Given the description of an element on the screen output the (x, y) to click on. 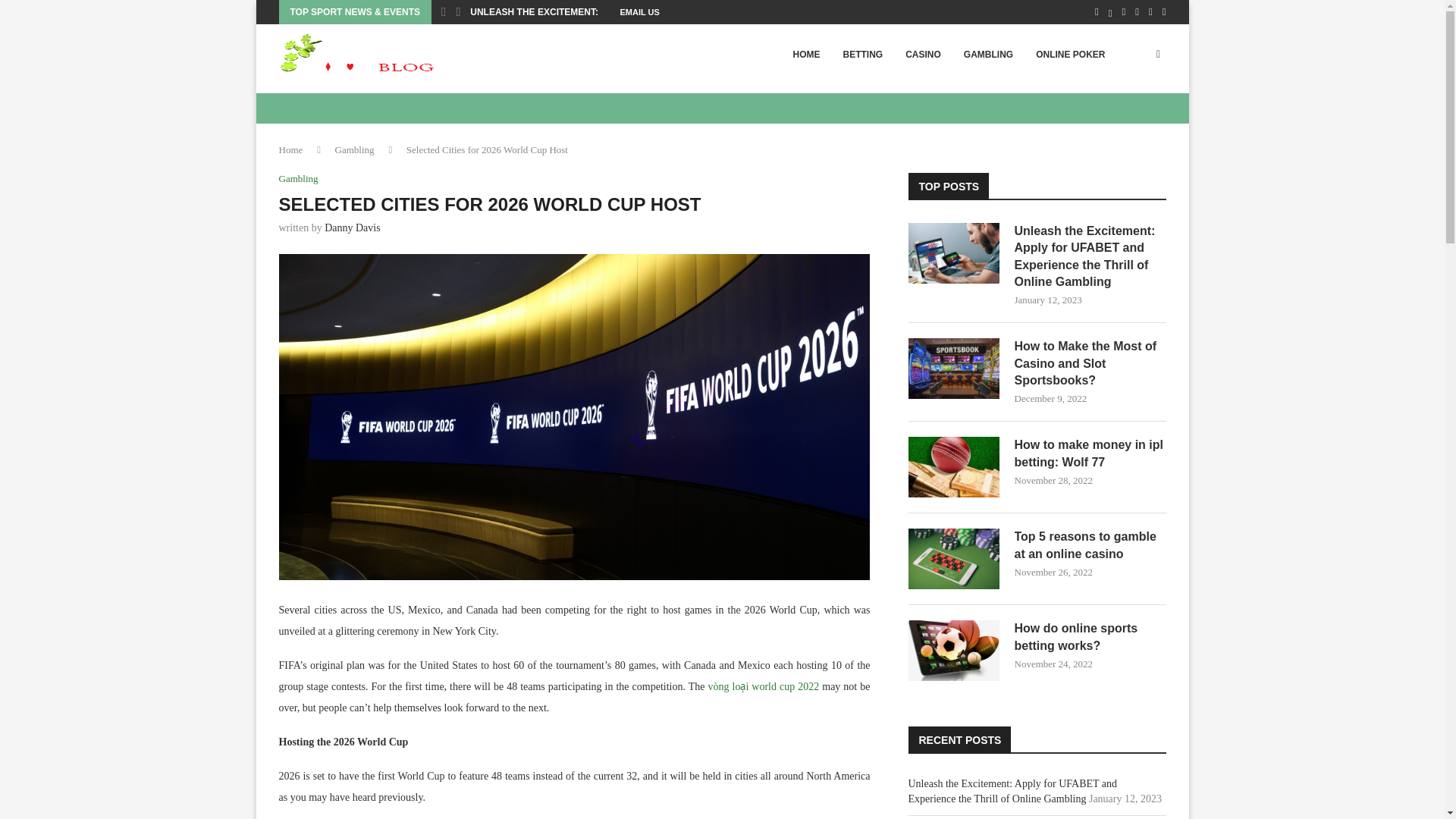
BETTING (862, 54)
GAMBLING (988, 54)
ONLINE POKER (1070, 54)
Gambling (354, 149)
Home (290, 149)
UNLEASH THE EXCITEMENT: APPLY FOR UFABET AND EXPERIENCE... (625, 12)
EMAIL US (639, 12)
Danny Davis (352, 227)
CASINO (922, 54)
Gambling (298, 178)
